Given the description of an element on the screen output the (x, y) to click on. 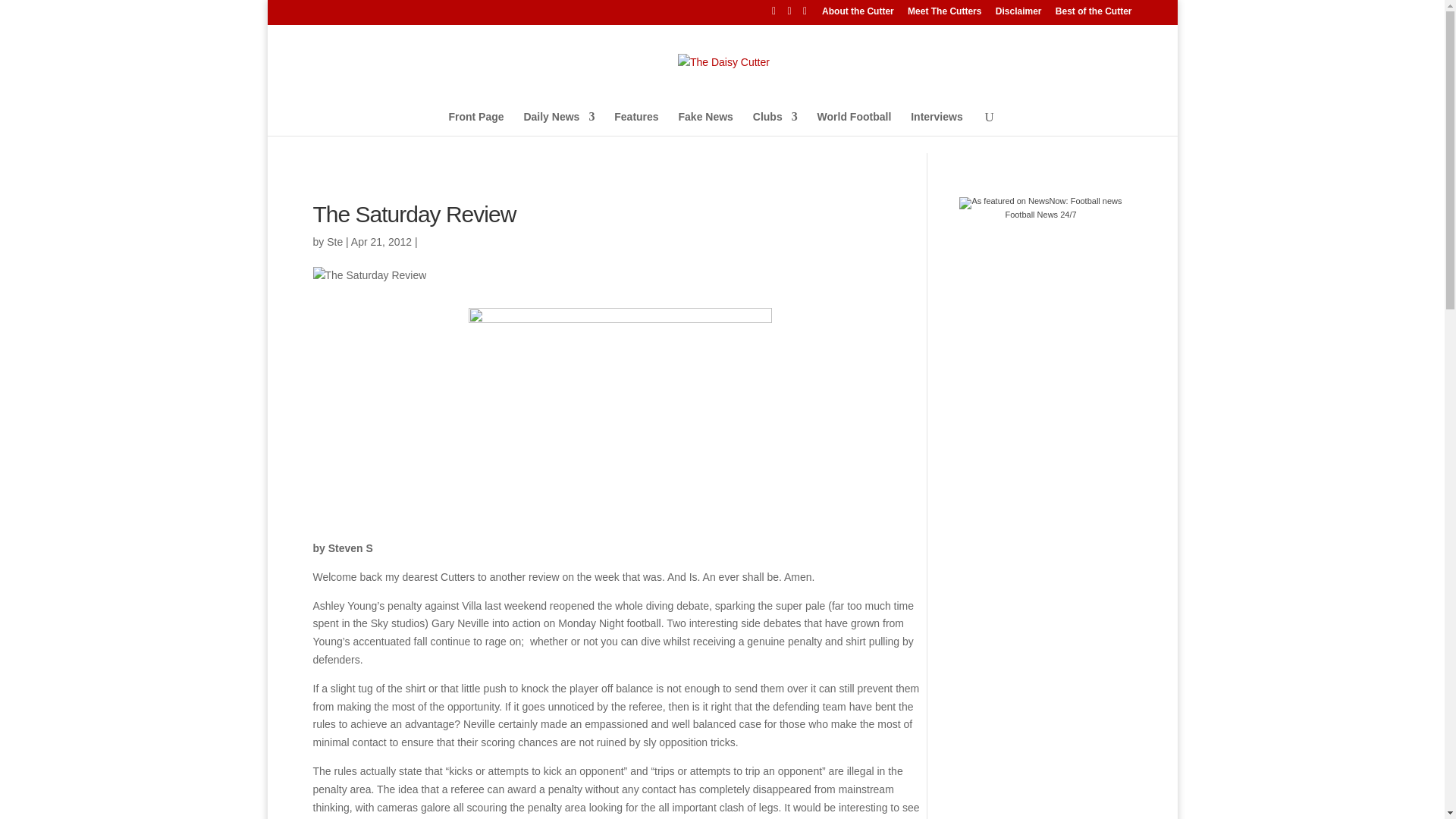
Daily News (558, 126)
Best of the Cutter (1093, 14)
Posts by Ste (334, 241)
About the Cutter (857, 14)
World Football (853, 126)
Meet The Cutters (944, 14)
Disclaimer (1018, 14)
Click here for more Football news from NewsNow (1040, 208)
Fake News (705, 126)
Interviews (936, 126)
s1.reutersmedia.net (619, 409)
Front Page (475, 126)
Features (636, 126)
Clubs (774, 126)
